Given the description of an element on the screen output the (x, y) to click on. 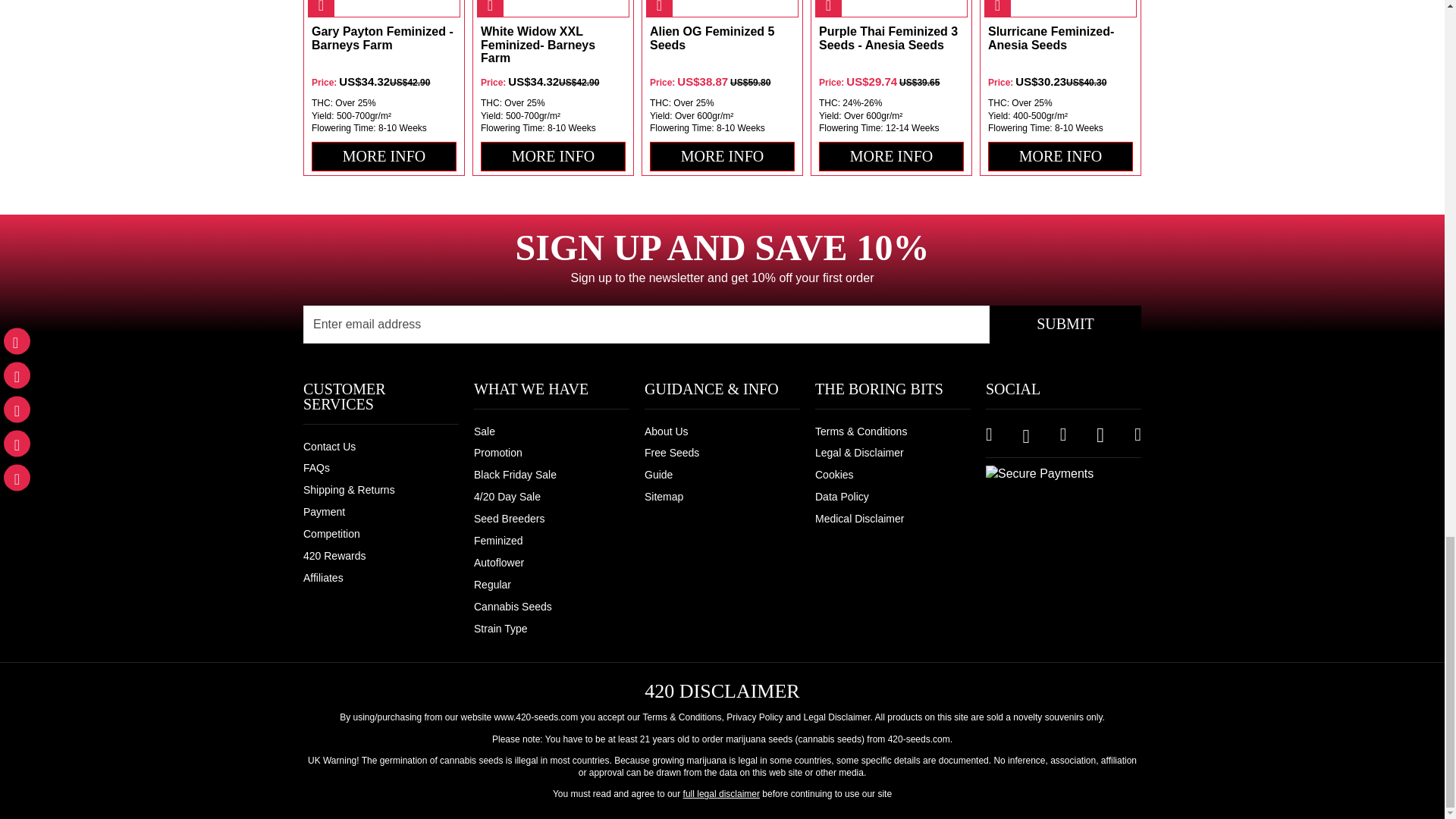
Add to Wish List (320, 8)
Gary Payton Feminized - Barneys Farm (384, 45)
Add to Wish List (490, 8)
White Widow XXL Feminized- Barneys Farm (553, 45)
